Given the description of an element on the screen output the (x, y) to click on. 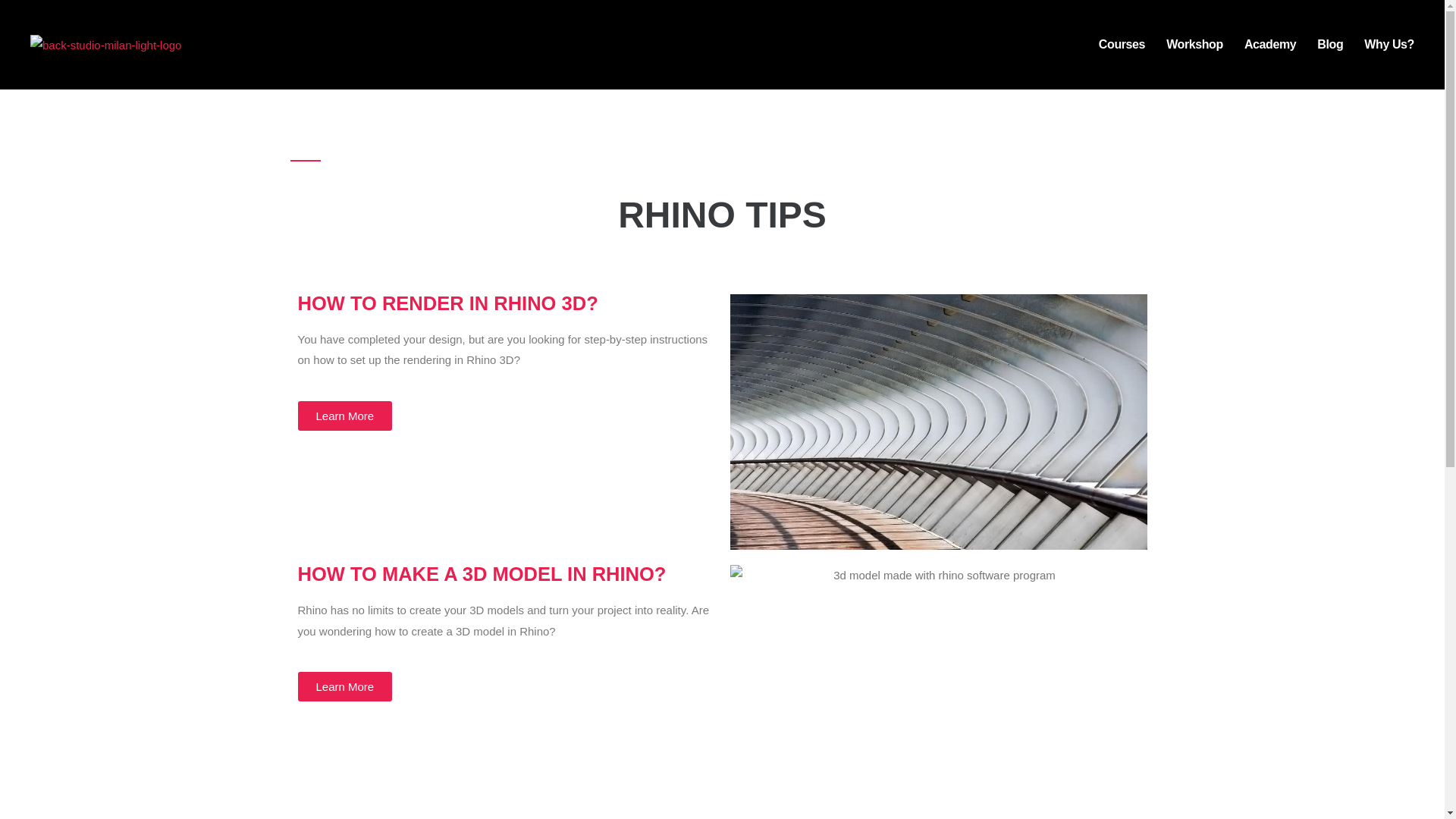
Why Us? (1388, 44)
Courses (1121, 44)
Learn More (344, 686)
Academy (1269, 44)
Learn More (344, 415)
Blog (1329, 44)
Workshop (1194, 44)
